Given the description of an element on the screen output the (x, y) to click on. 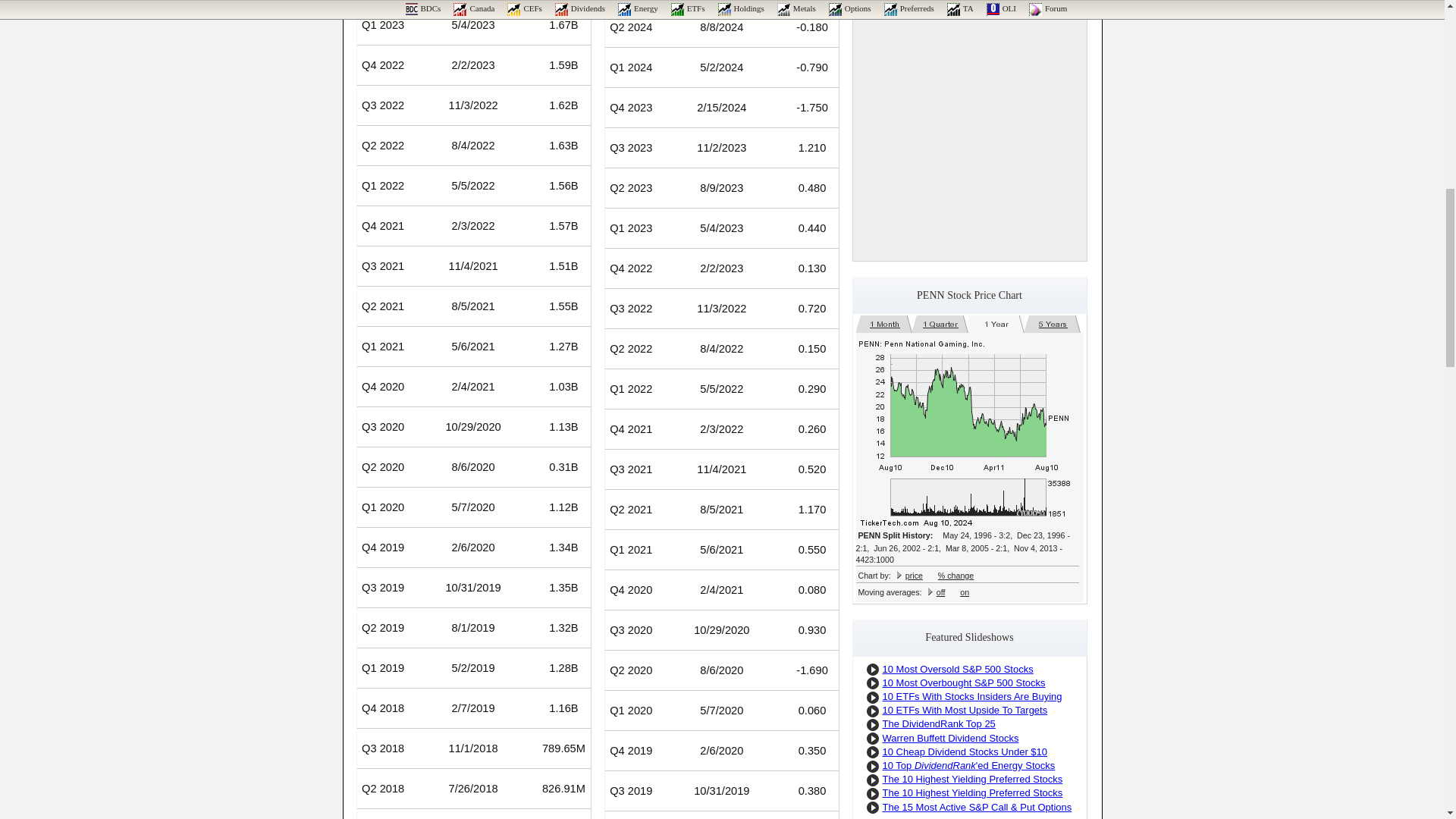
off (940, 592)
10 ETFs With Stocks Insiders Are Buying (972, 696)
price (914, 574)
on (964, 592)
10 ETFs With Most Upside To Targets (965, 709)
